Given the description of an element on the screen output the (x, y) to click on. 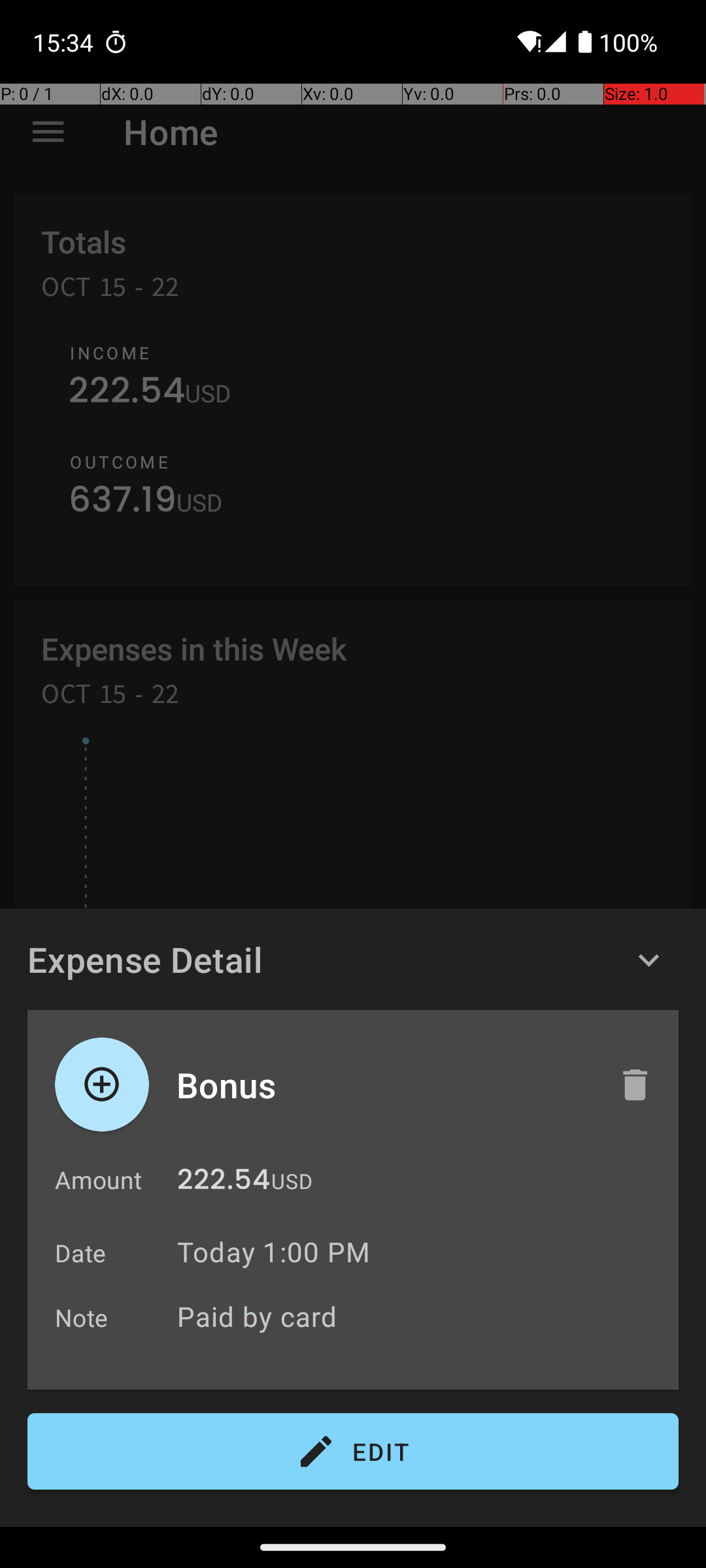
Bonus Element type: android.widget.TextView (383, 1084)
222.54 Element type: android.widget.TextView (223, 1182)
Today 1:00 PM Element type: android.widget.TextView (273, 1251)
